Given the description of an element on the screen output the (x, y) to click on. 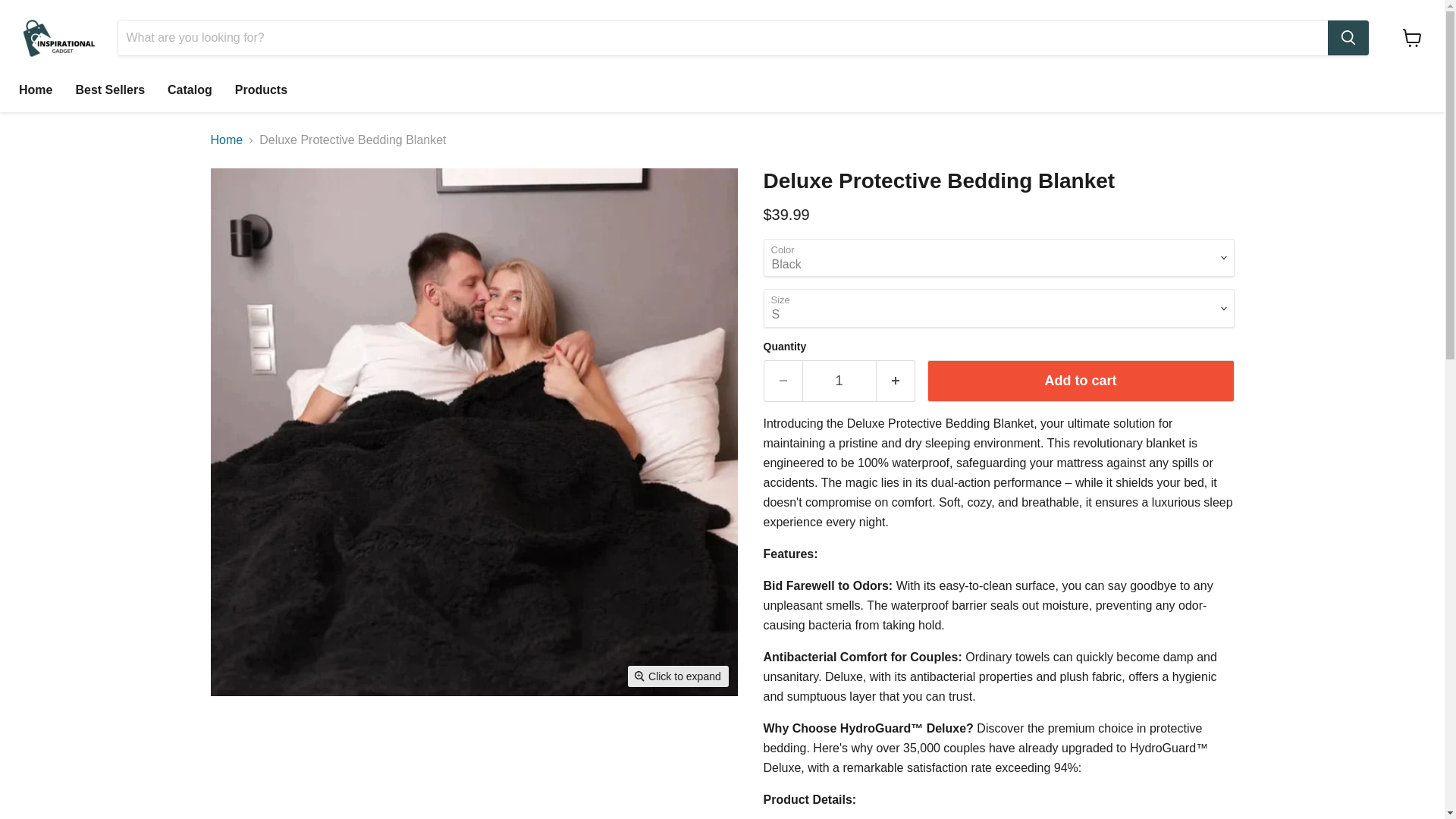
Products (261, 90)
View cart (1411, 37)
Home (227, 140)
1 (839, 381)
Catalog (189, 90)
Home (35, 90)
Click to expand (678, 676)
Add to cart (1079, 381)
Best Sellers (109, 90)
